Given the description of an element on the screen output the (x, y) to click on. 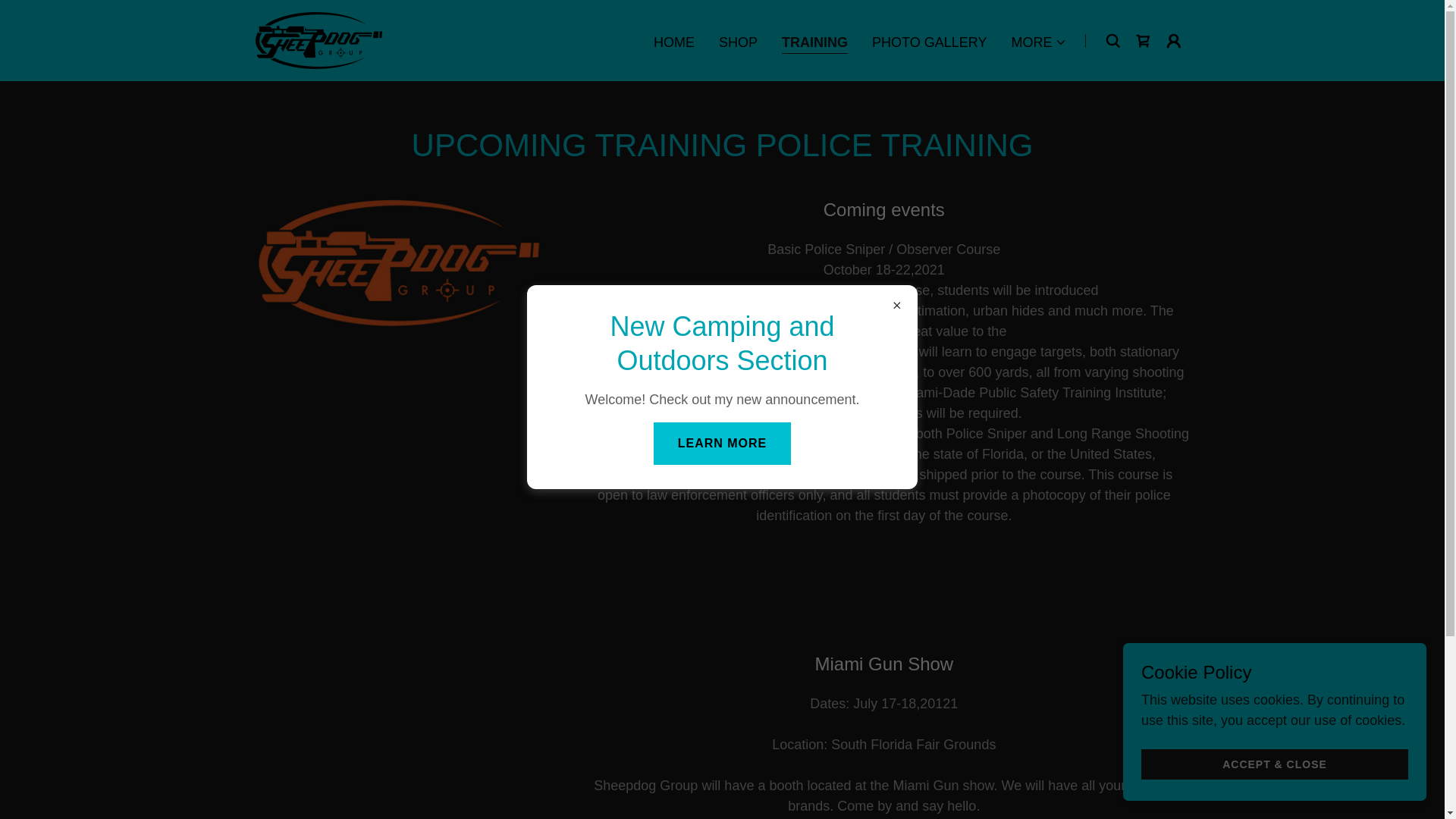
PHOTO GALLERY (929, 42)
Guiding You to the next step (317, 38)
HOME (673, 42)
MORE (1038, 42)
SHOP (737, 42)
TRAINING (814, 43)
LEARN MORE (722, 442)
